Given the description of an element on the screen output the (x, y) to click on. 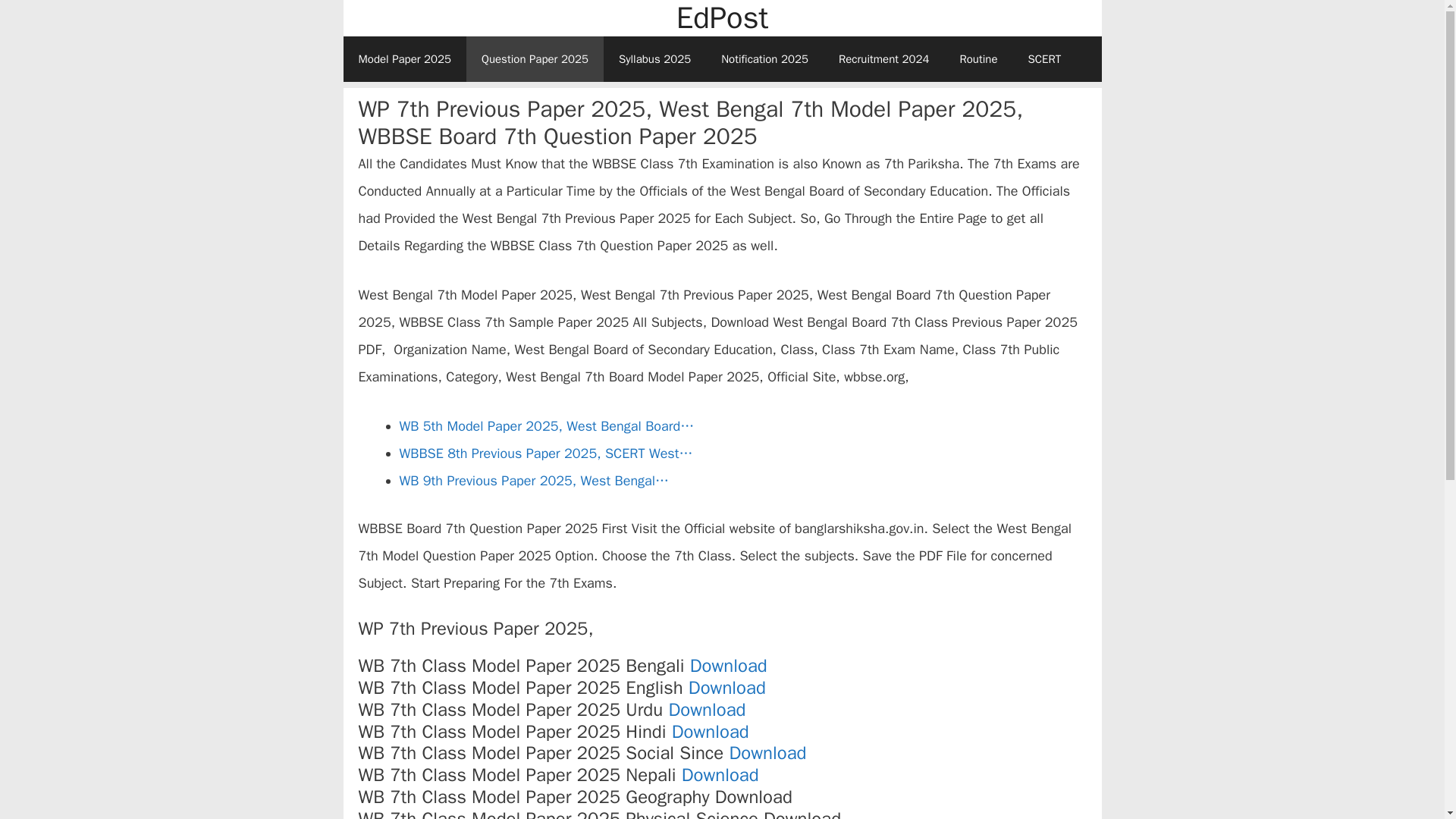
Download (728, 665)
Model Paper 2025 (403, 58)
SCERT (1045, 58)
Download (767, 753)
Routine (977, 58)
Question Paper 2025 (534, 58)
Syllabus 2025 (655, 58)
Recruitment 2024 (884, 58)
Download (719, 774)
Download (710, 731)
